Given the description of an element on the screen output the (x, y) to click on. 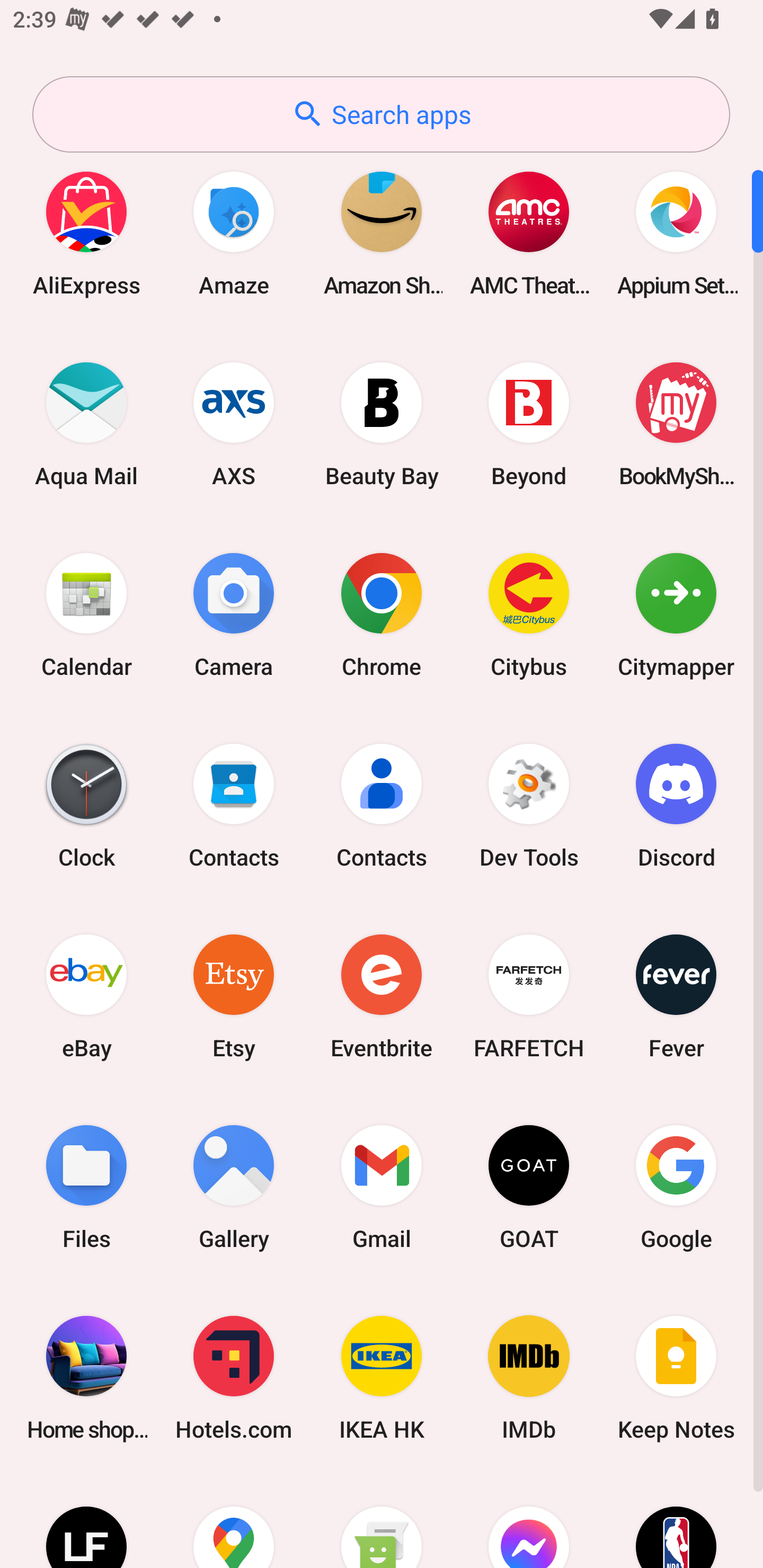
Citymapper (676, 614)
